Given the description of an element on the screen output the (x, y) to click on. 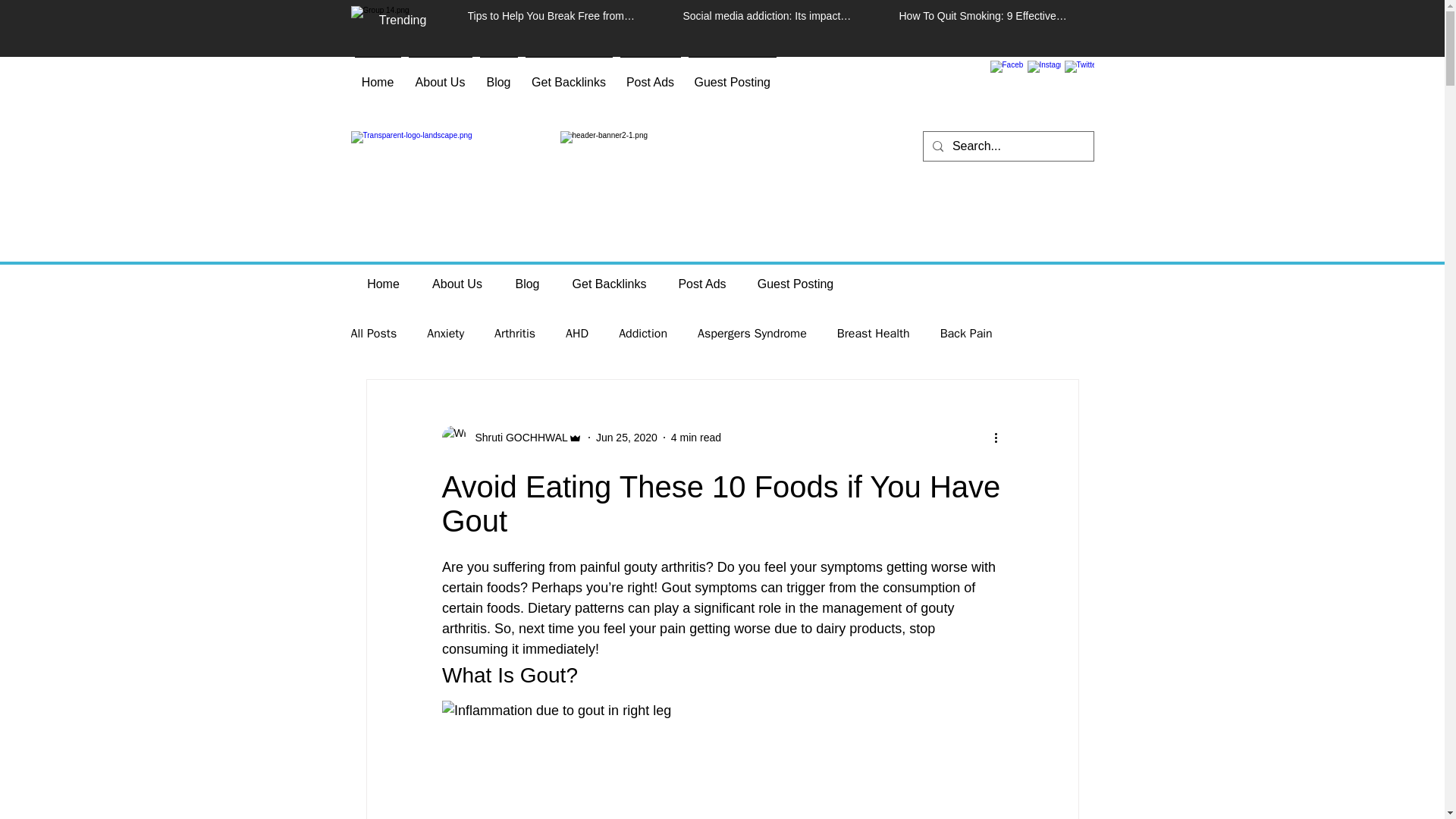
Arthritis (515, 333)
Home (382, 284)
file4.jpg (721, 185)
Guest Posting (794, 284)
How To Quit Smoking: 9 Effective Tips And Methods (984, 18)
About Us (455, 284)
About Us (440, 75)
All Posts (373, 333)
Post Ads (702, 284)
Blog (498, 75)
